Given the description of an element on the screen output the (x, y) to click on. 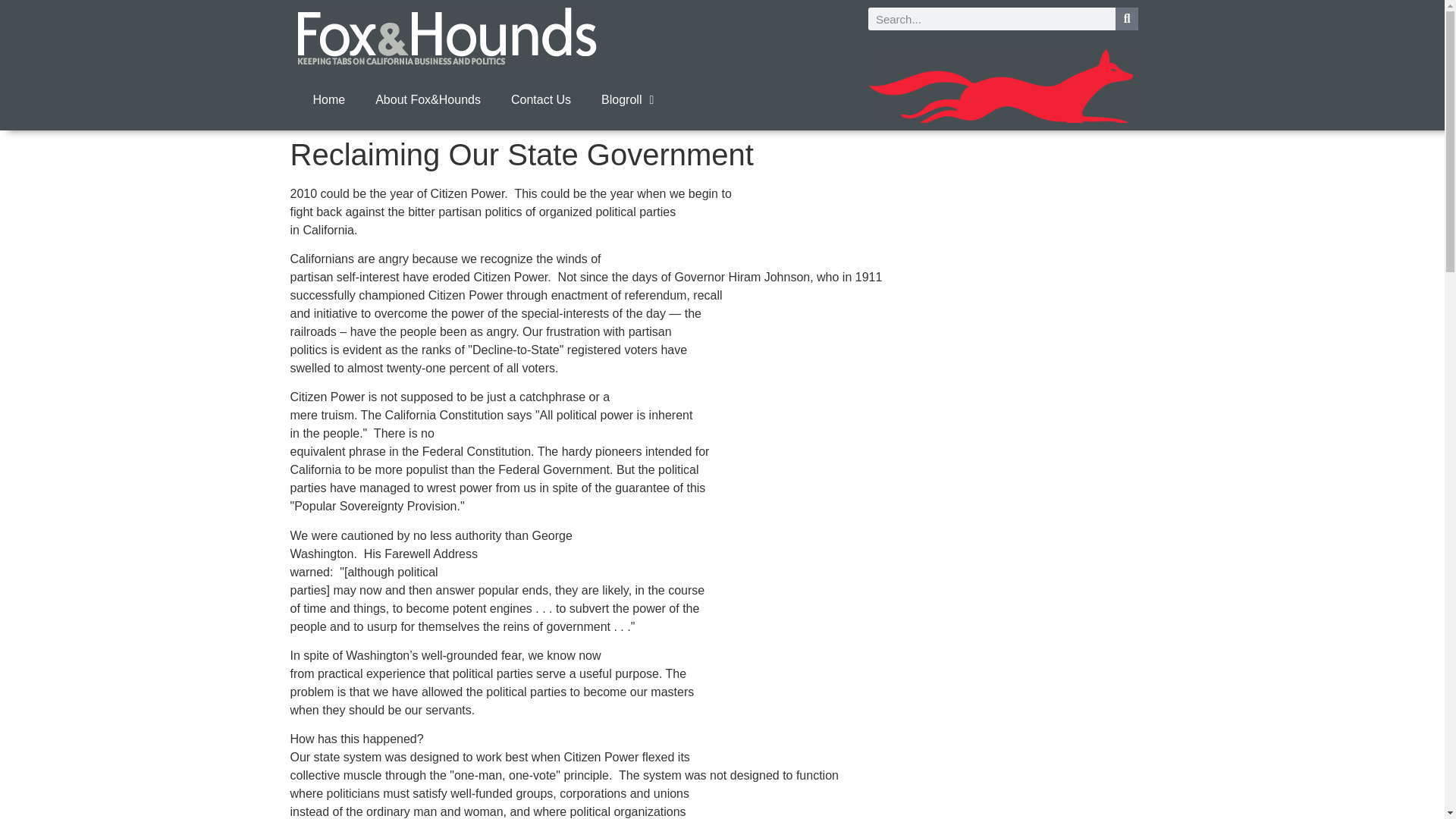
Blogroll (627, 99)
Home (328, 99)
Contact Us (541, 99)
